Given the description of an element on the screen output the (x, y) to click on. 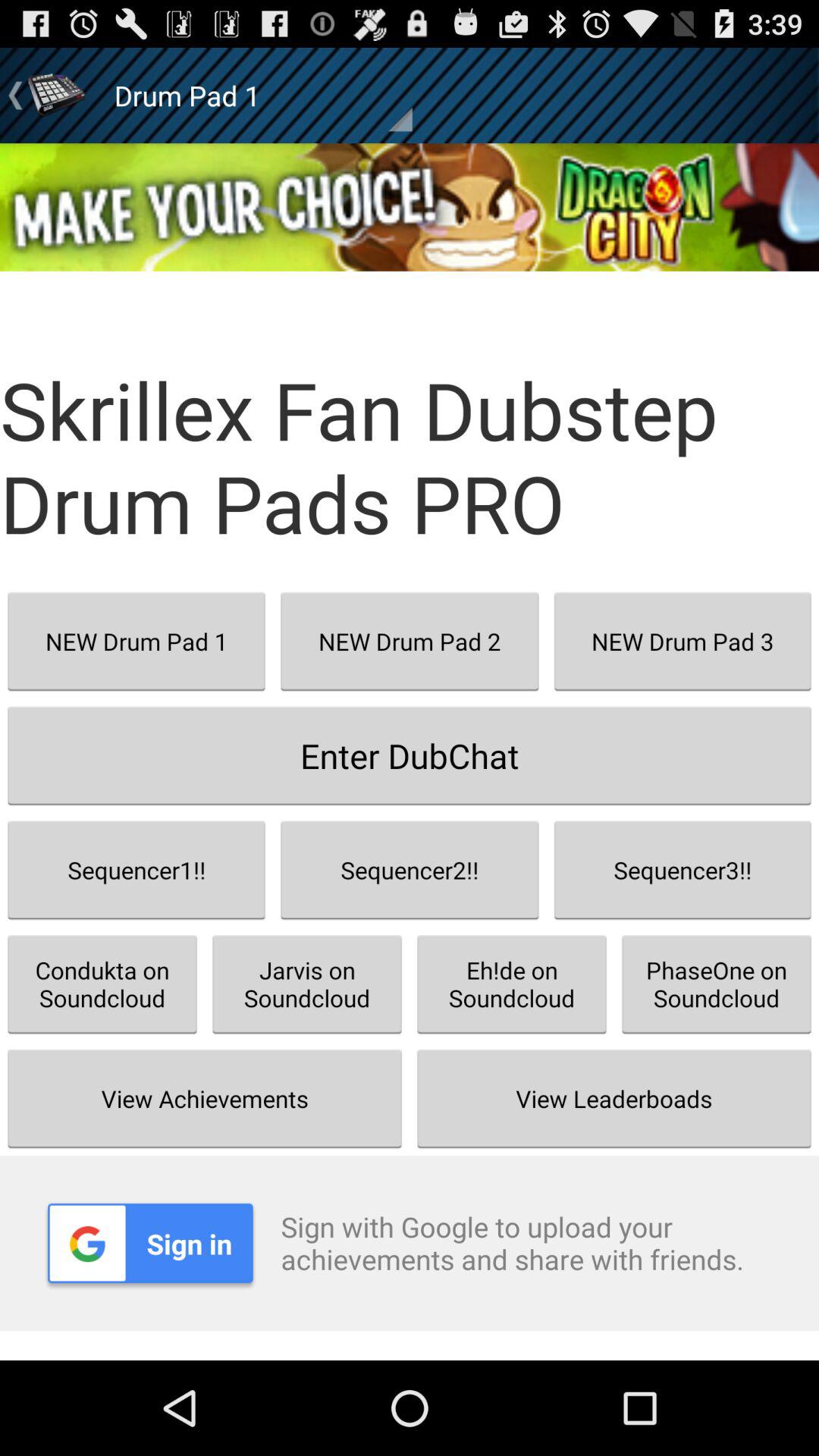
scroll until sign in icon (150, 1243)
